Given the description of an element on the screen output the (x, y) to click on. 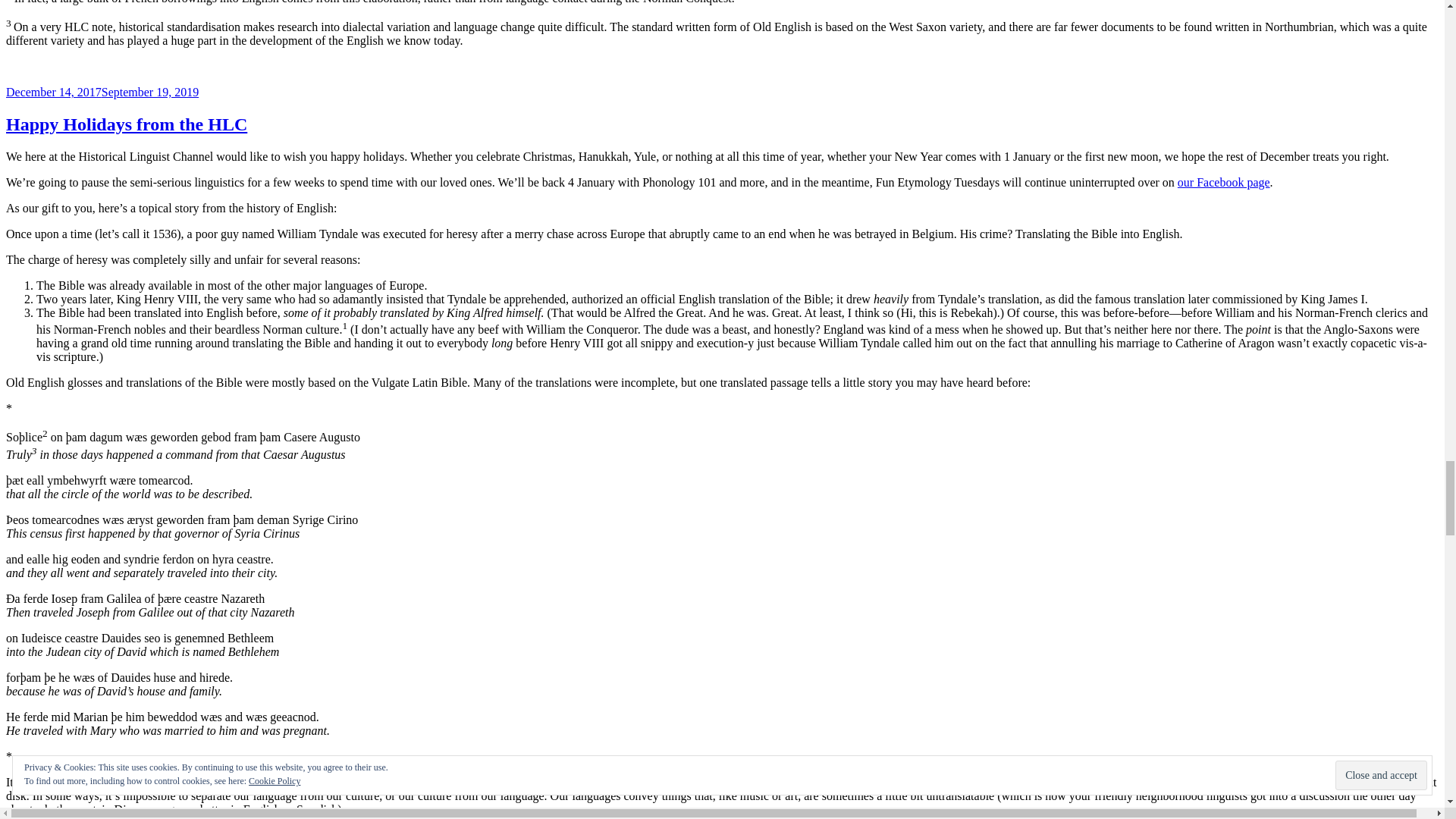
Happy Holidays from the HLC (126, 124)
December 14, 2017September 19, 2019 (101, 91)
our Facebook page (1223, 182)
